Given the description of an element on the screen output the (x, y) to click on. 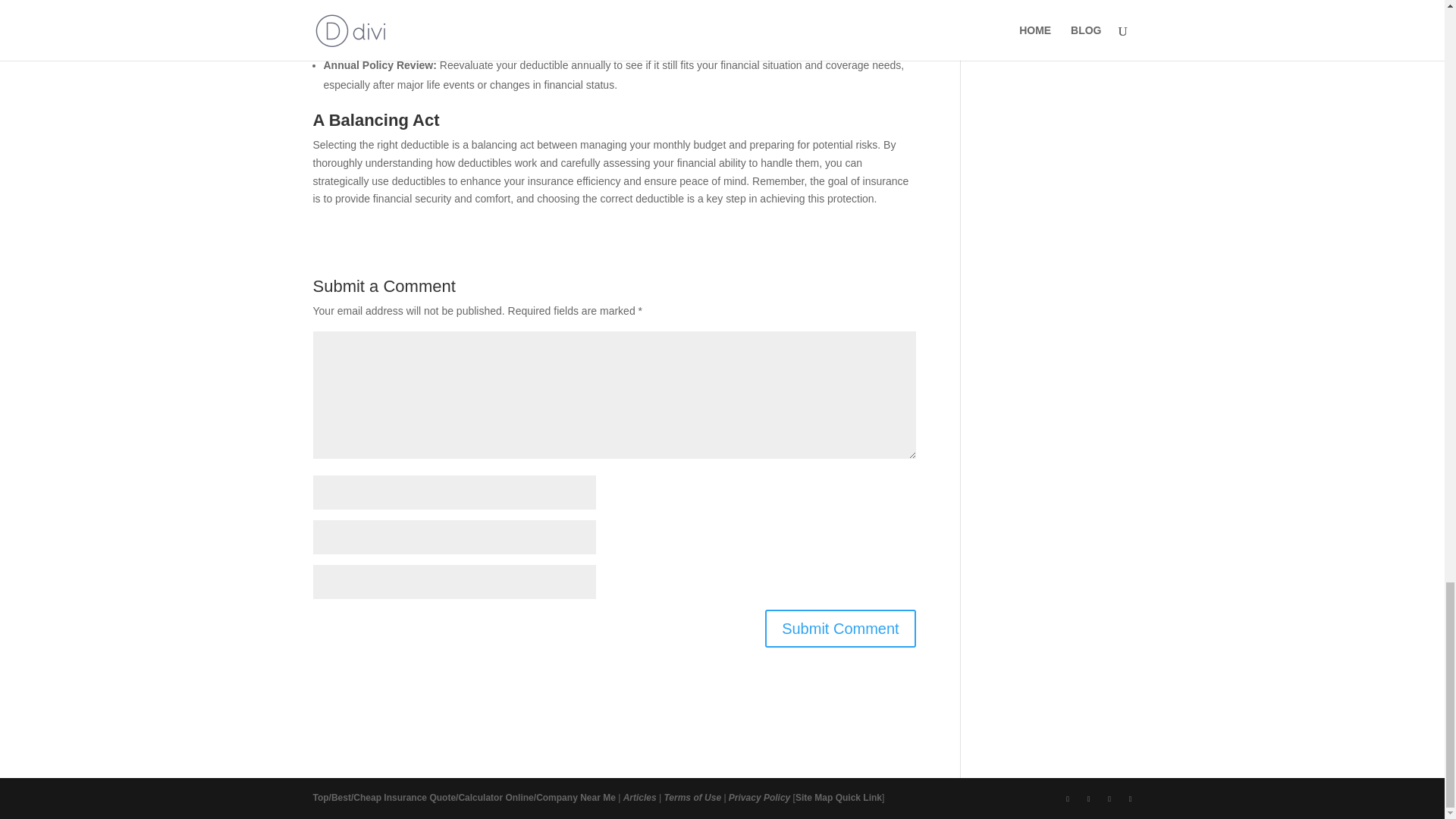
Quote (442, 797)
Terms of Use (691, 797)
Calculator (480, 797)
Link (872, 797)
Cheap (367, 797)
Submit Comment (840, 628)
Near Me (597, 797)
Insurance (405, 797)
Articles (639, 797)
Submit Comment (840, 628)
